Given the description of an element on the screen output the (x, y) to click on. 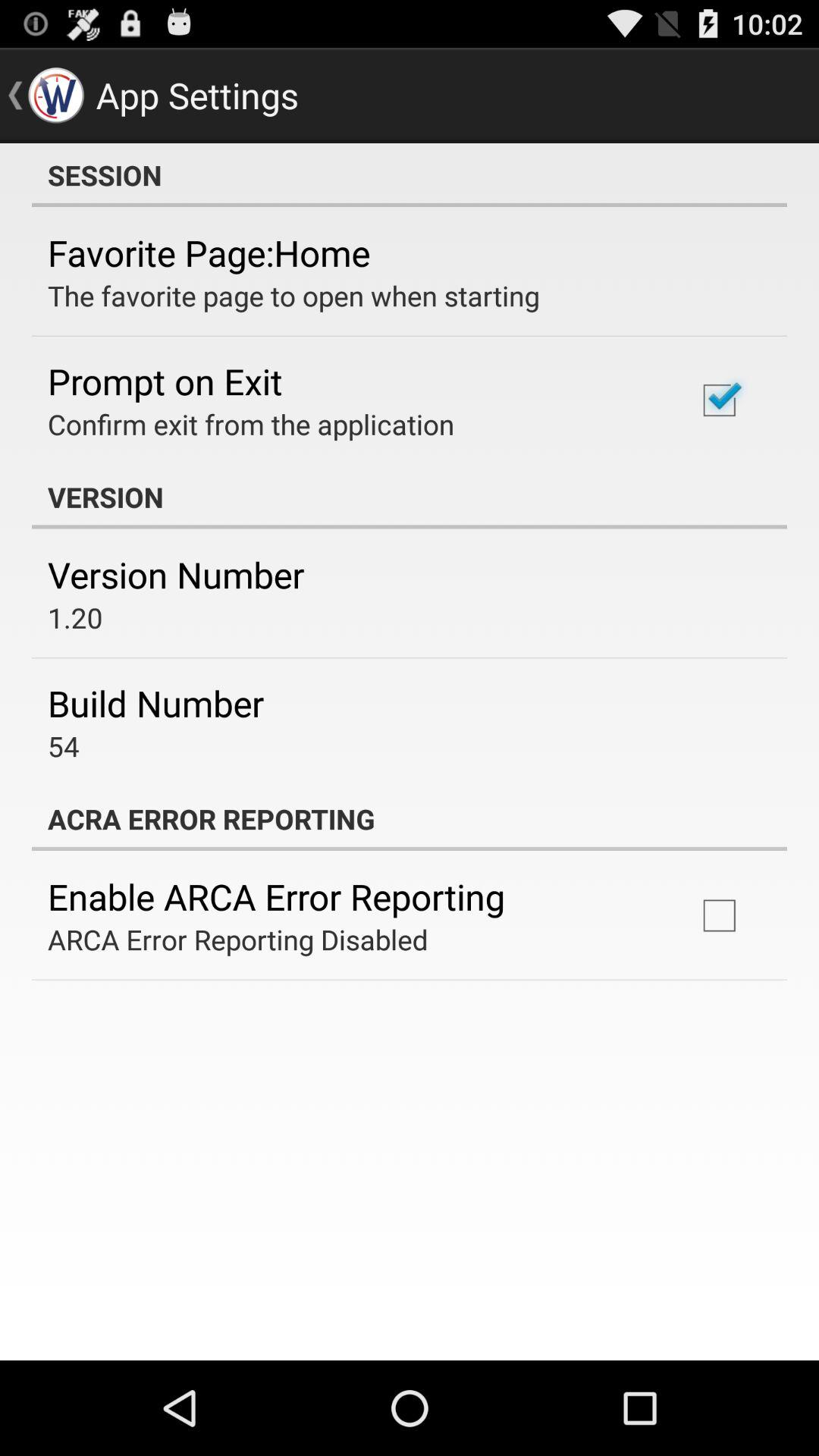
choose 54 item (63, 745)
